Given the description of an element on the screen output the (x, y) to click on. 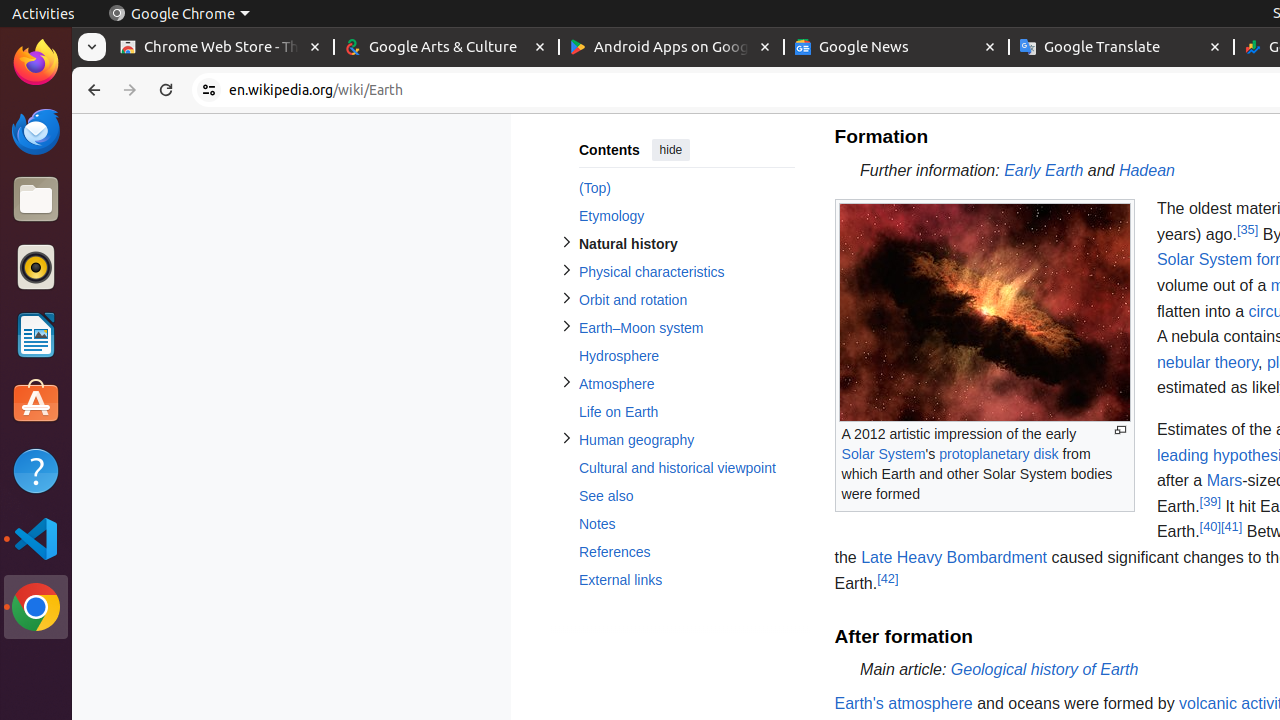
Google Chrome Element type: menu (179, 13)
Mars Element type: link (1224, 481)
